Given the description of an element on the screen output the (x, y) to click on. 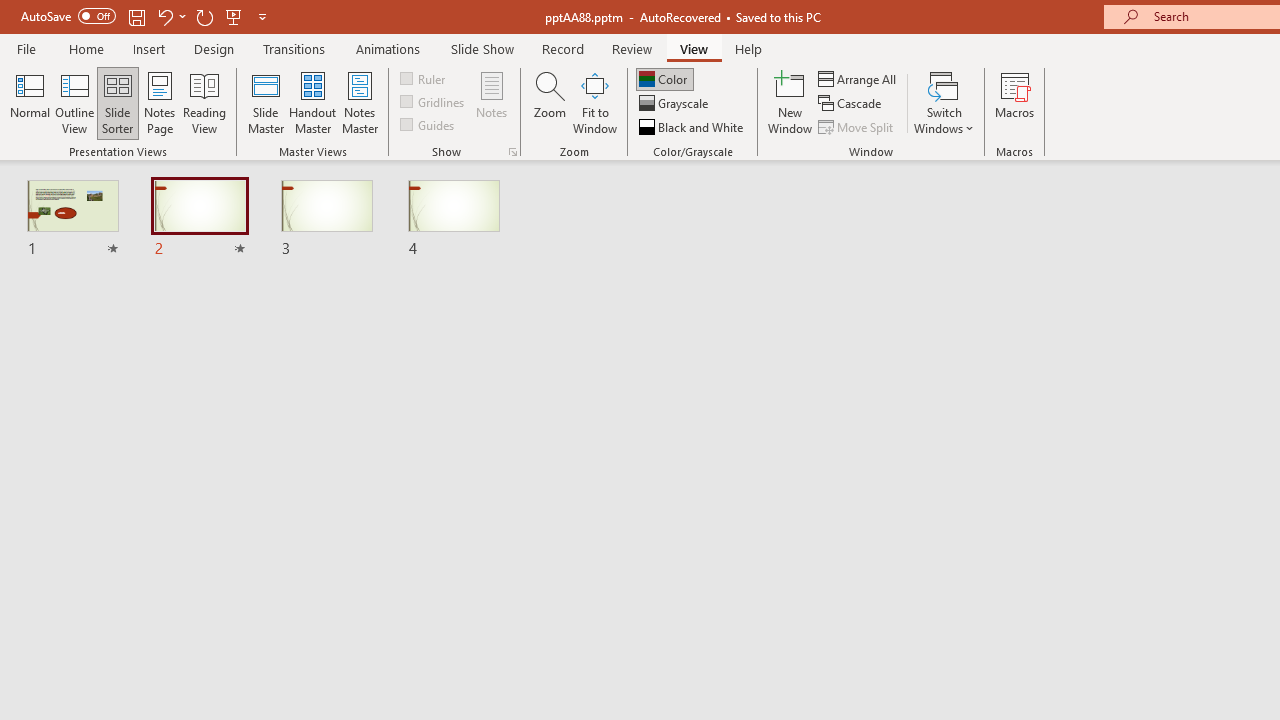
Switch Windows (943, 102)
Move Split (857, 126)
